Given the description of an element on the screen output the (x, y) to click on. 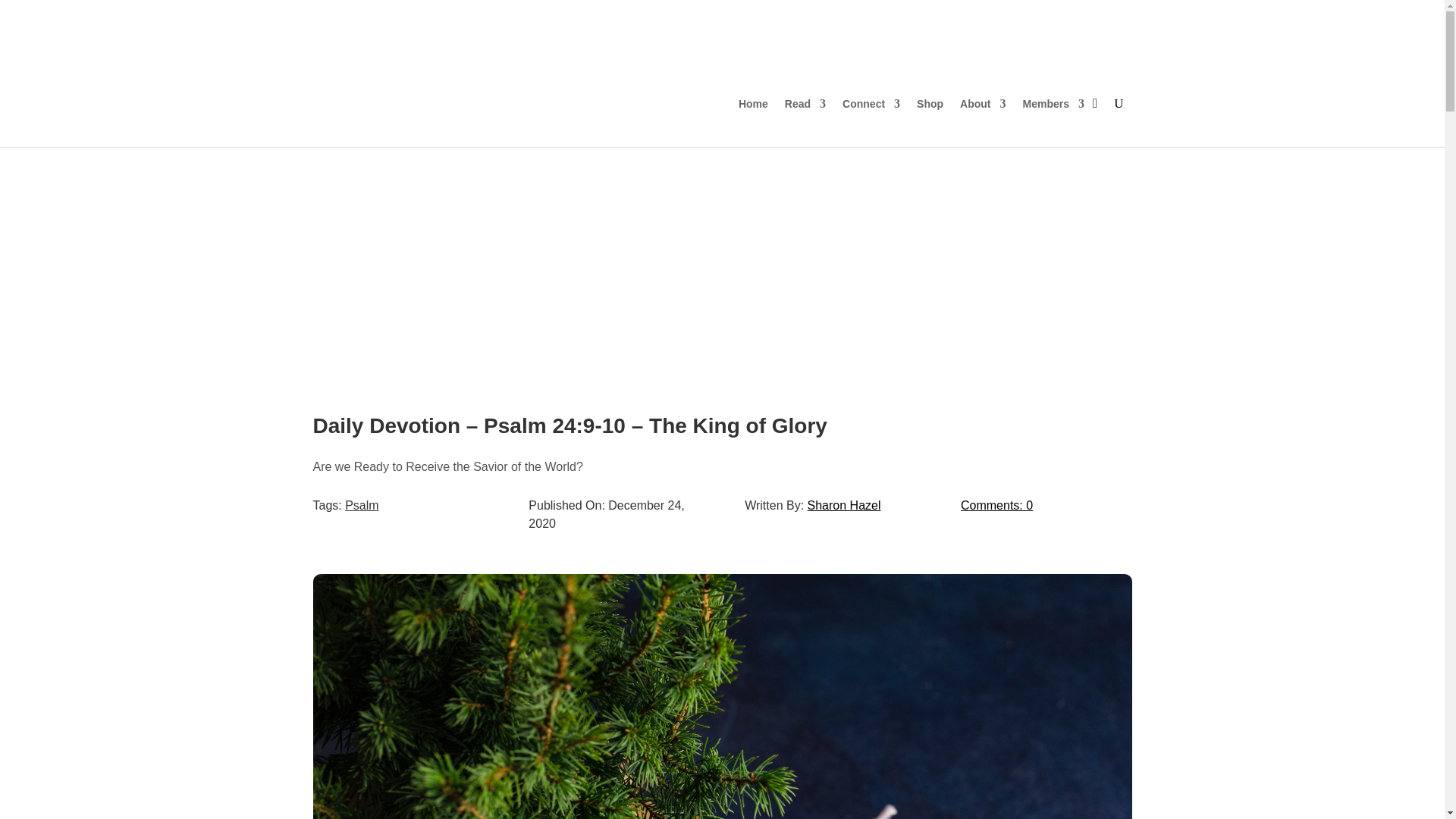
Comments: 0 (996, 504)
Members (1053, 103)
Sharon Hazel (844, 504)
Psalm (361, 504)
Connect (871, 103)
